Given the description of an element on the screen output the (x, y) to click on. 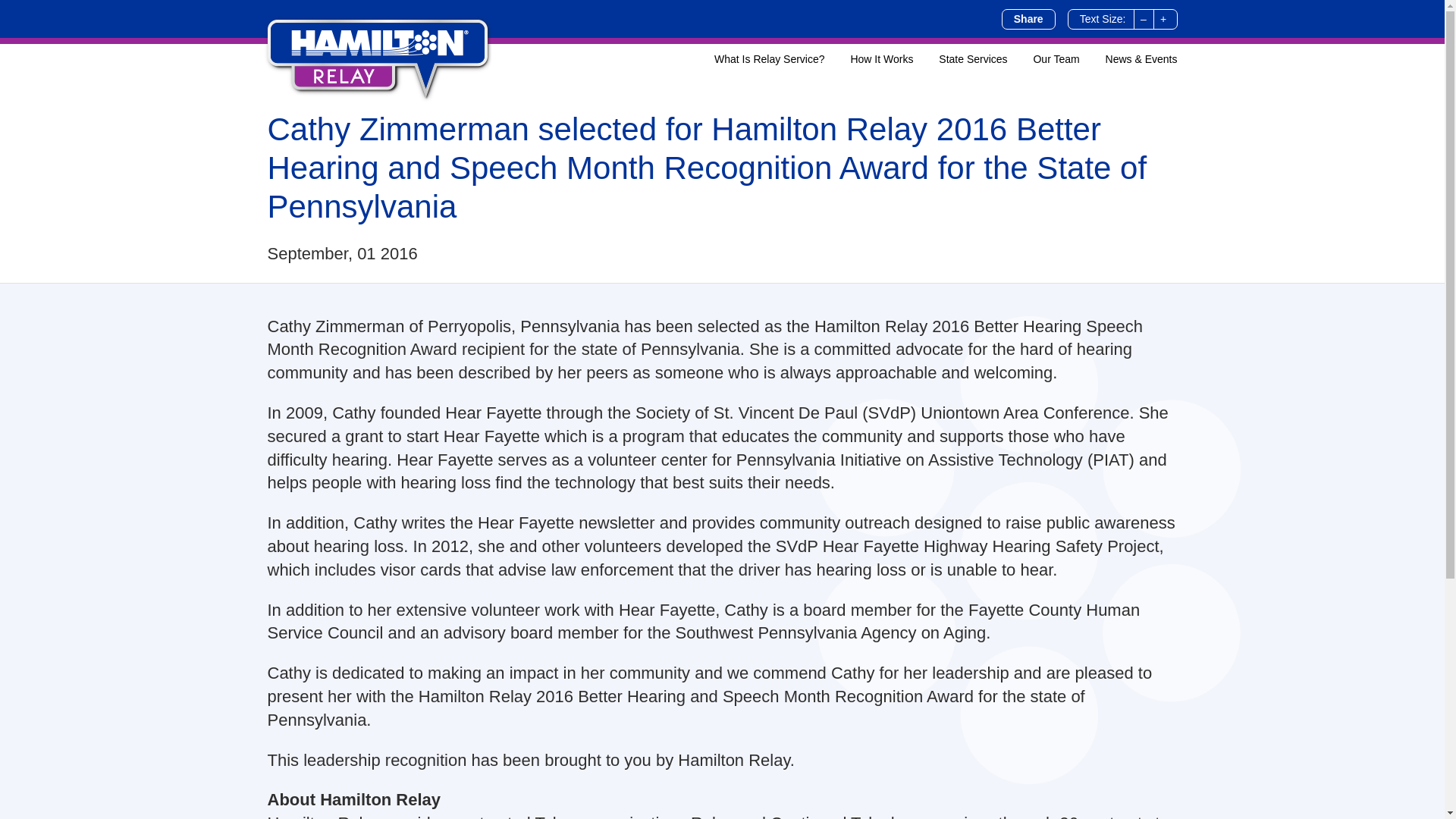
Increase page text size (1162, 18)
State Services (961, 59)
Share (1028, 19)
How It Works (869, 59)
What Is Relay Service? (758, 59)
Go to the HamiltonRelay.com home page (377, 56)
Share this page on social media (1028, 19)
Decrease page text size (1142, 18)
Our Team (1044, 59)
Navigation Menu (933, 59)
